Given the description of an element on the screen output the (x, y) to click on. 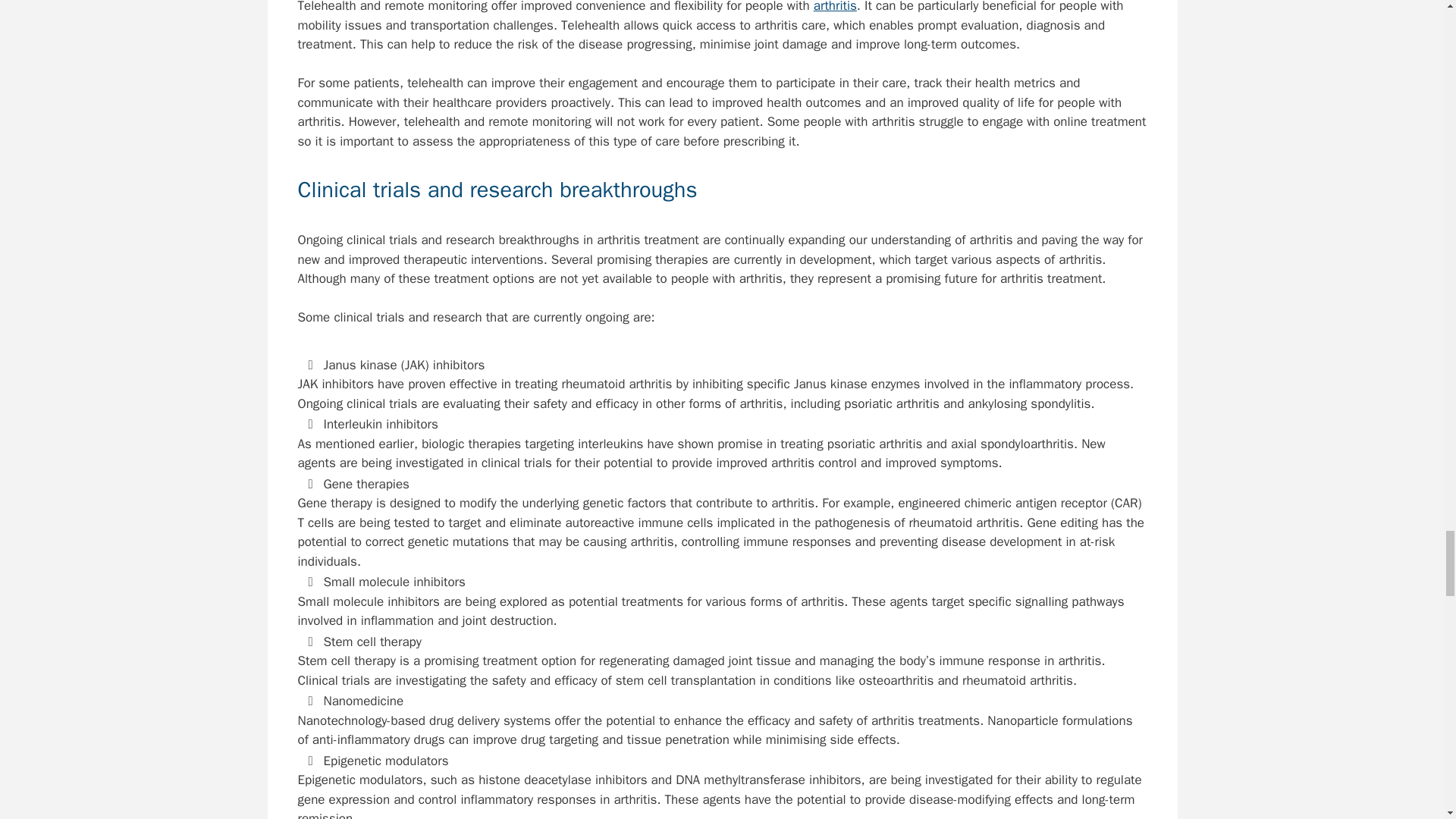
arthritis (835, 6)
